Given the description of an element on the screen output the (x, y) to click on. 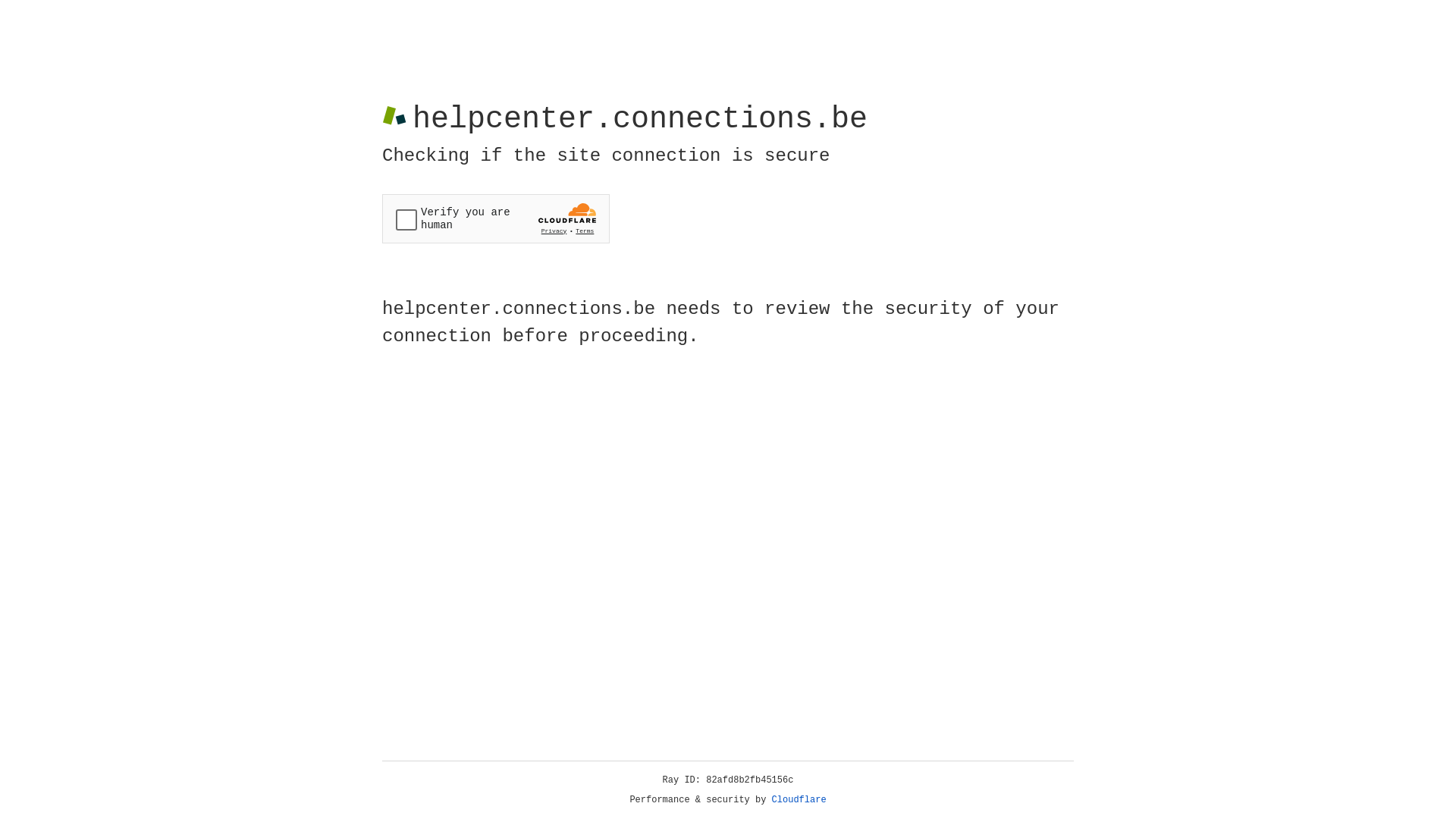
Widget containing a Cloudflare security challenge Element type: hover (495, 218)
Cloudflare Element type: text (798, 799)
